Given the description of an element on the screen output the (x, y) to click on. 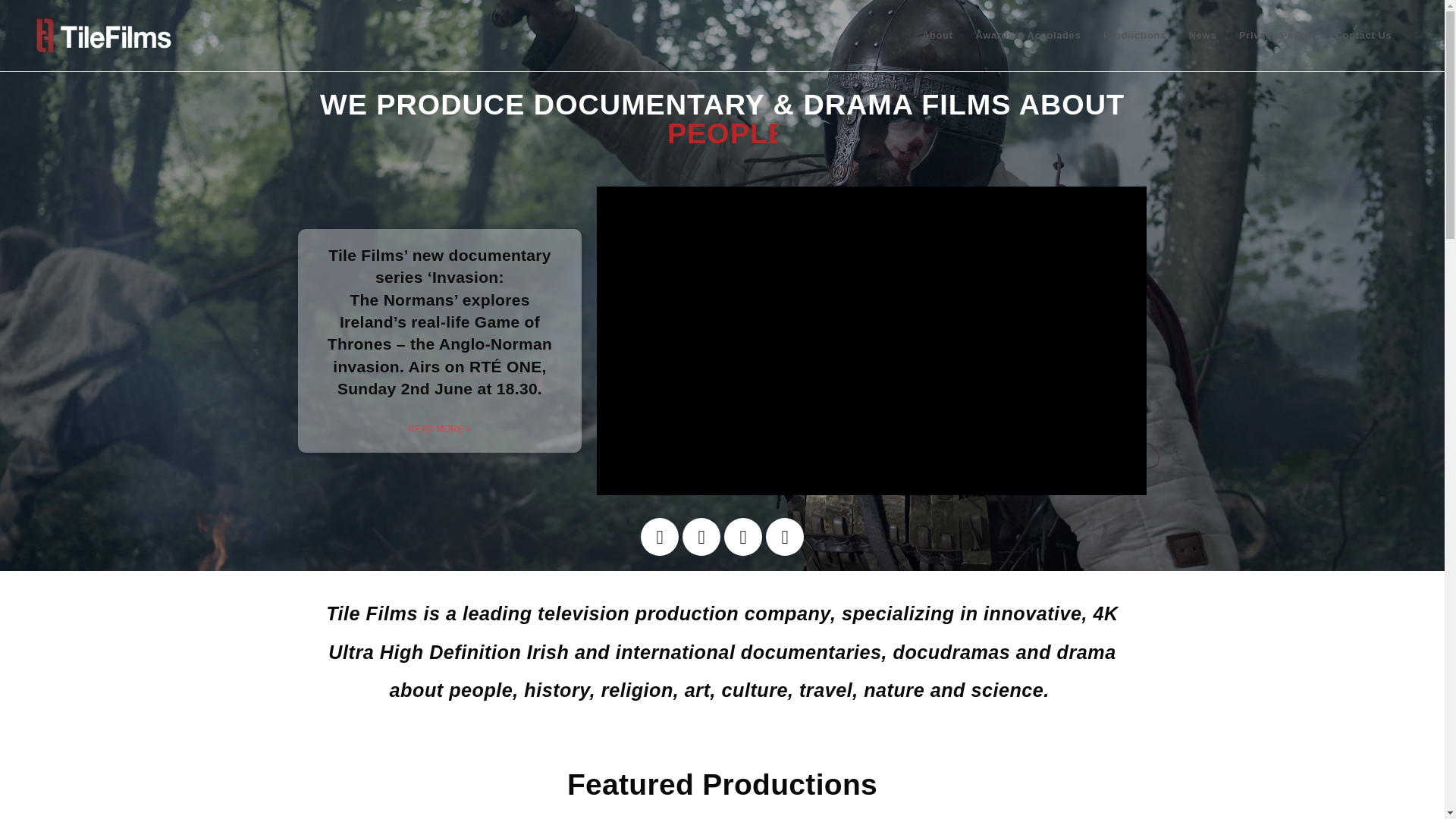
Productions (1134, 35)
About (937, 35)
Contact Us (1363, 35)
Privacy Policy (1275, 35)
News (1202, 35)
